Given the description of an element on the screen output the (x, y) to click on. 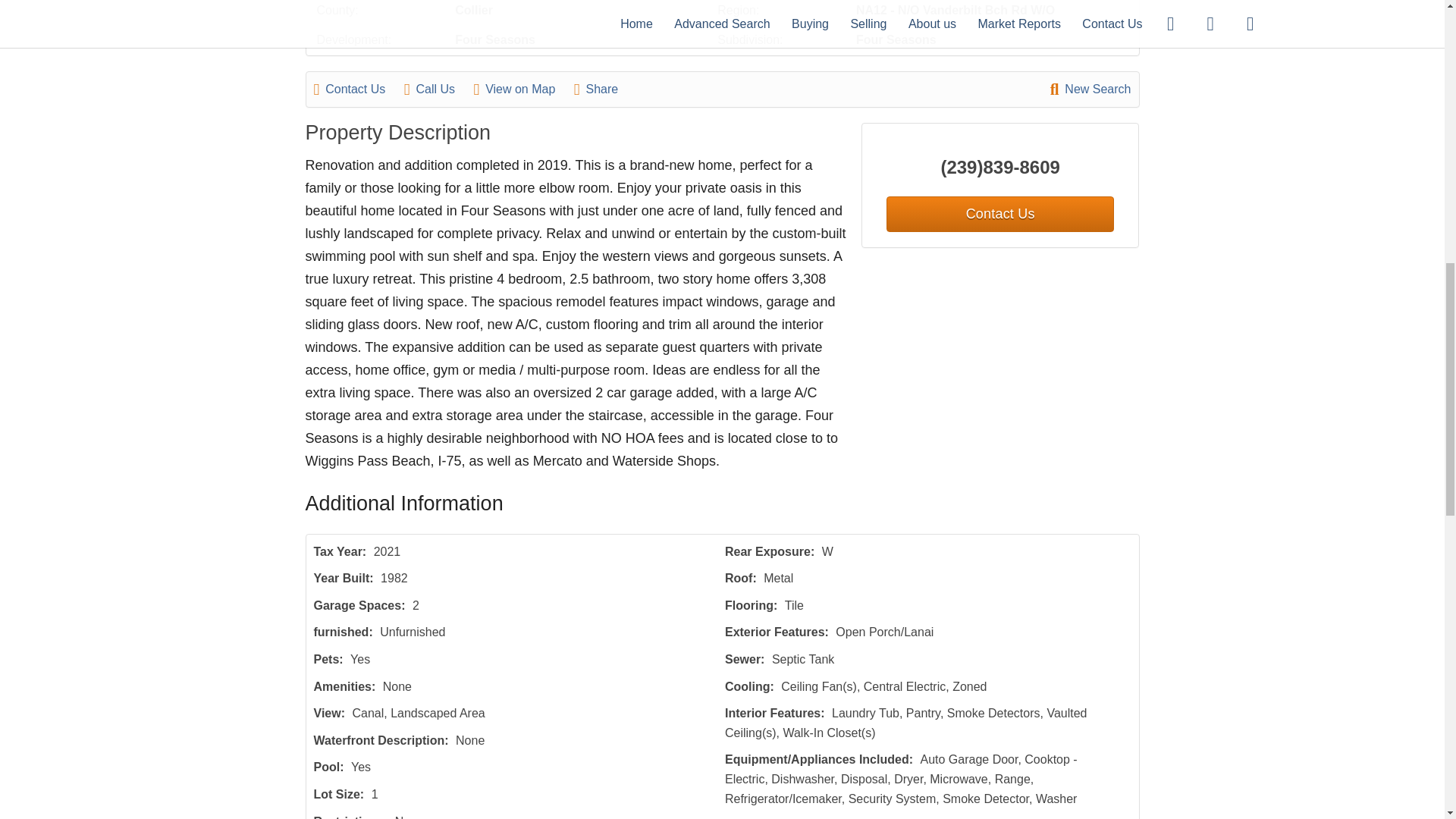
Contact Us (357, 88)
Contact Us (999, 213)
View on Map (521, 88)
New Search (1090, 88)
Call Us (437, 88)
Share (603, 88)
